Given the description of an element on the screen output the (x, y) to click on. 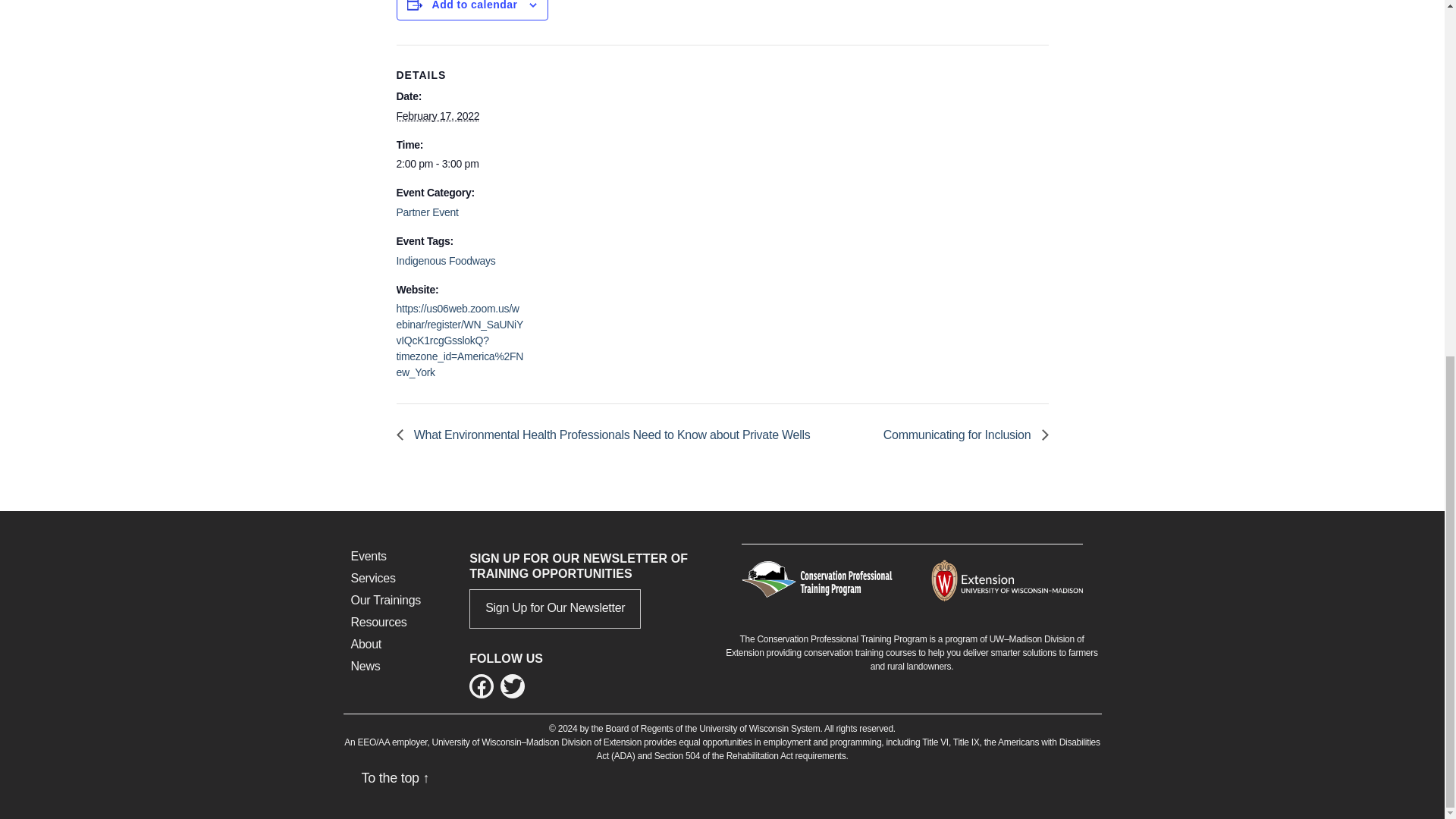
2022-02-17 (437, 115)
Communicating for Inclusion (961, 434)
Resources (378, 621)
Services (372, 577)
Events (367, 555)
2022-02-17 (459, 163)
Add to calendar (475, 5)
Our Trainings (385, 599)
Opens in a new tab (1007, 580)
